Given the description of an element on the screen output the (x, y) to click on. 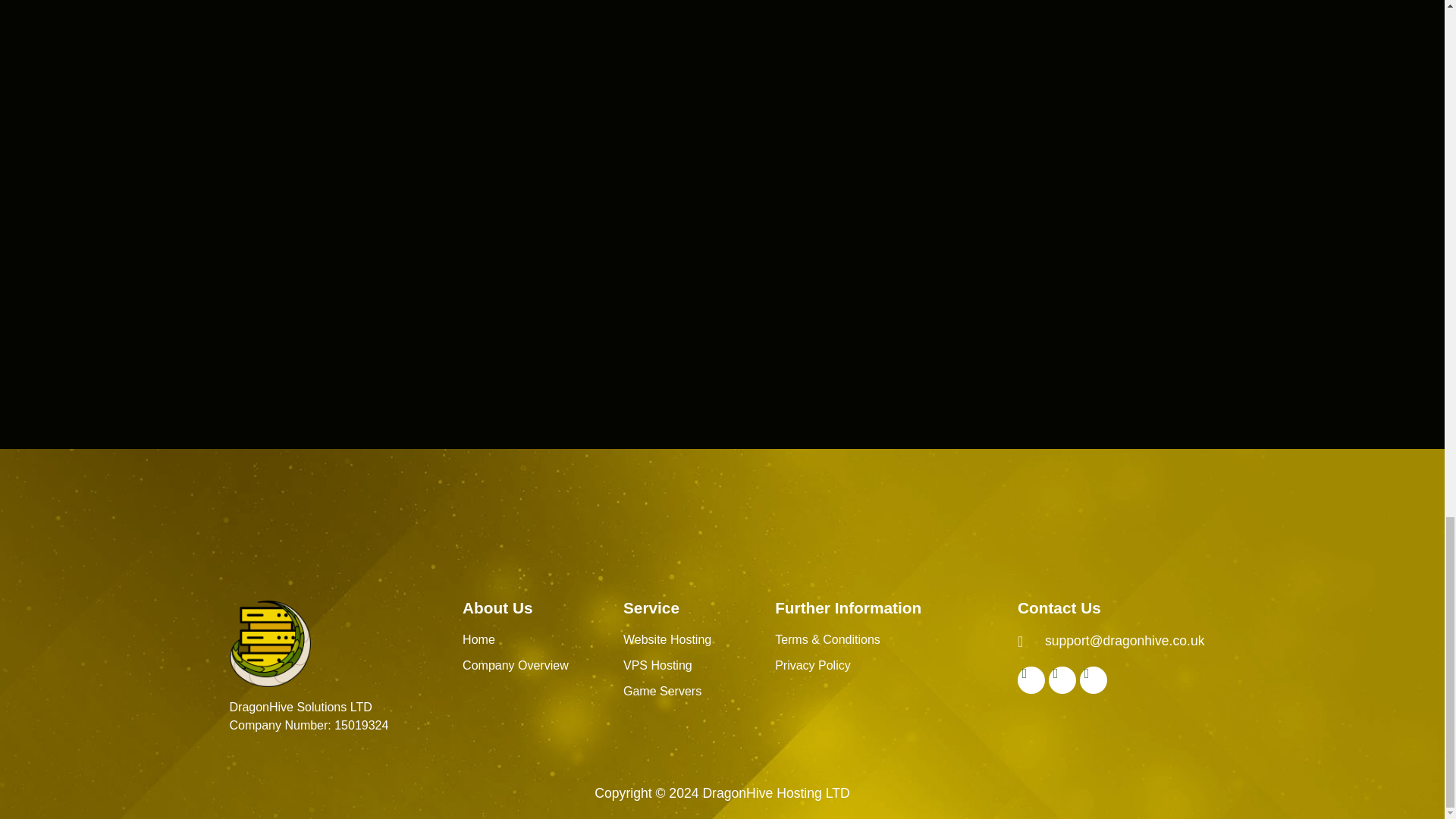
VPS Hosting (658, 665)
Home (479, 639)
Privacy Policy (812, 665)
Website Hosting (667, 639)
Company Overview (516, 665)
Game Servers (662, 690)
